Given the description of an element on the screen output the (x, y) to click on. 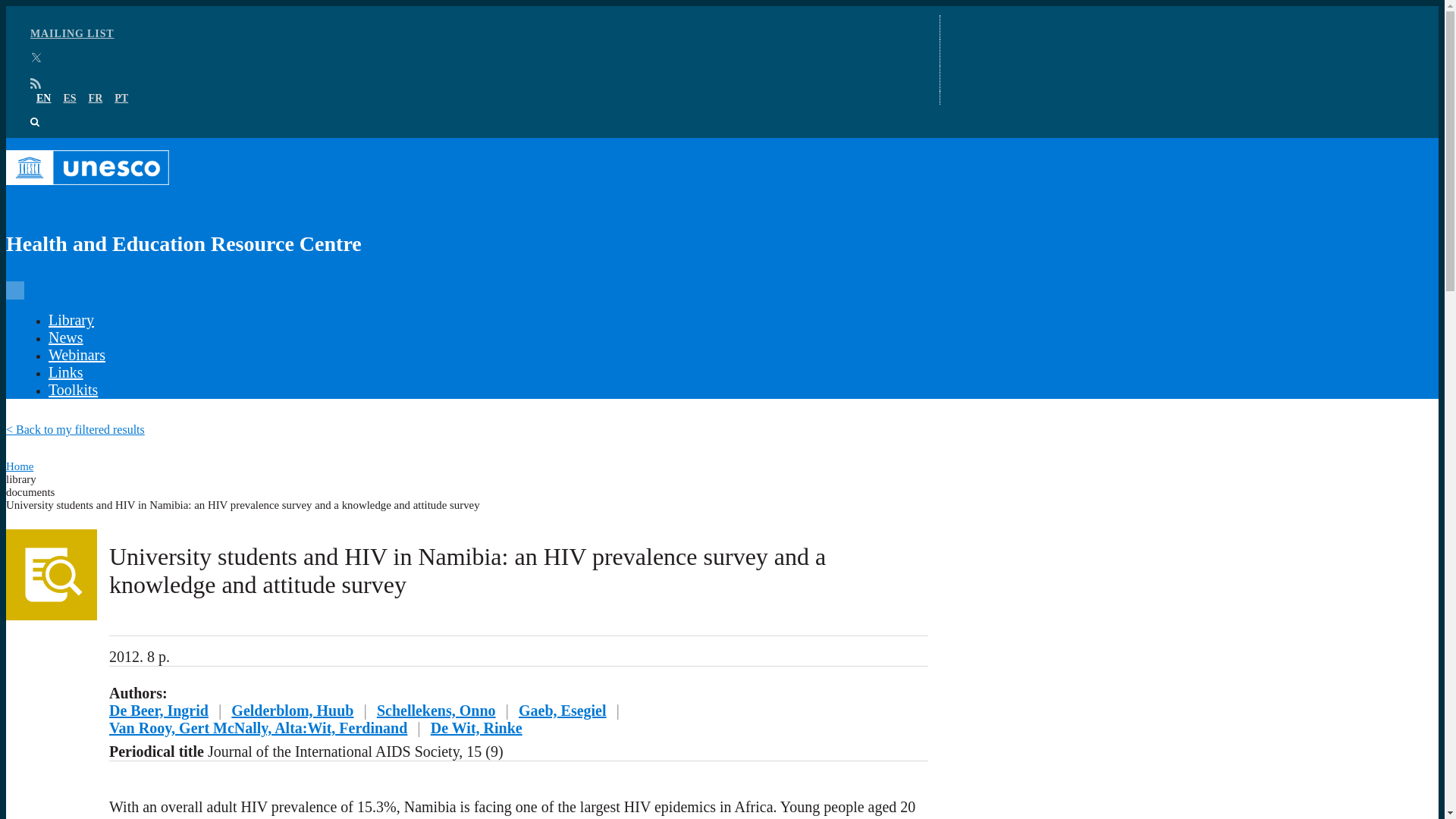
MAILING LIST (72, 33)
Health and Education Resource Centre (466, 209)
ES (68, 98)
Home (19, 466)
News (65, 337)
De Wit, Rinke (476, 727)
EN (43, 98)
Schellekens, Onno (436, 710)
Library (71, 320)
Webinars (76, 354)
Gelderblom, Huub (292, 710)
Van Rooy, Gert McNally, Alta:Wit, Ferdinand (258, 727)
Skip to main content (722, 7)
Gaeb, Esegiel (562, 710)
PT (121, 98)
